Given the description of an element on the screen output the (x, y) to click on. 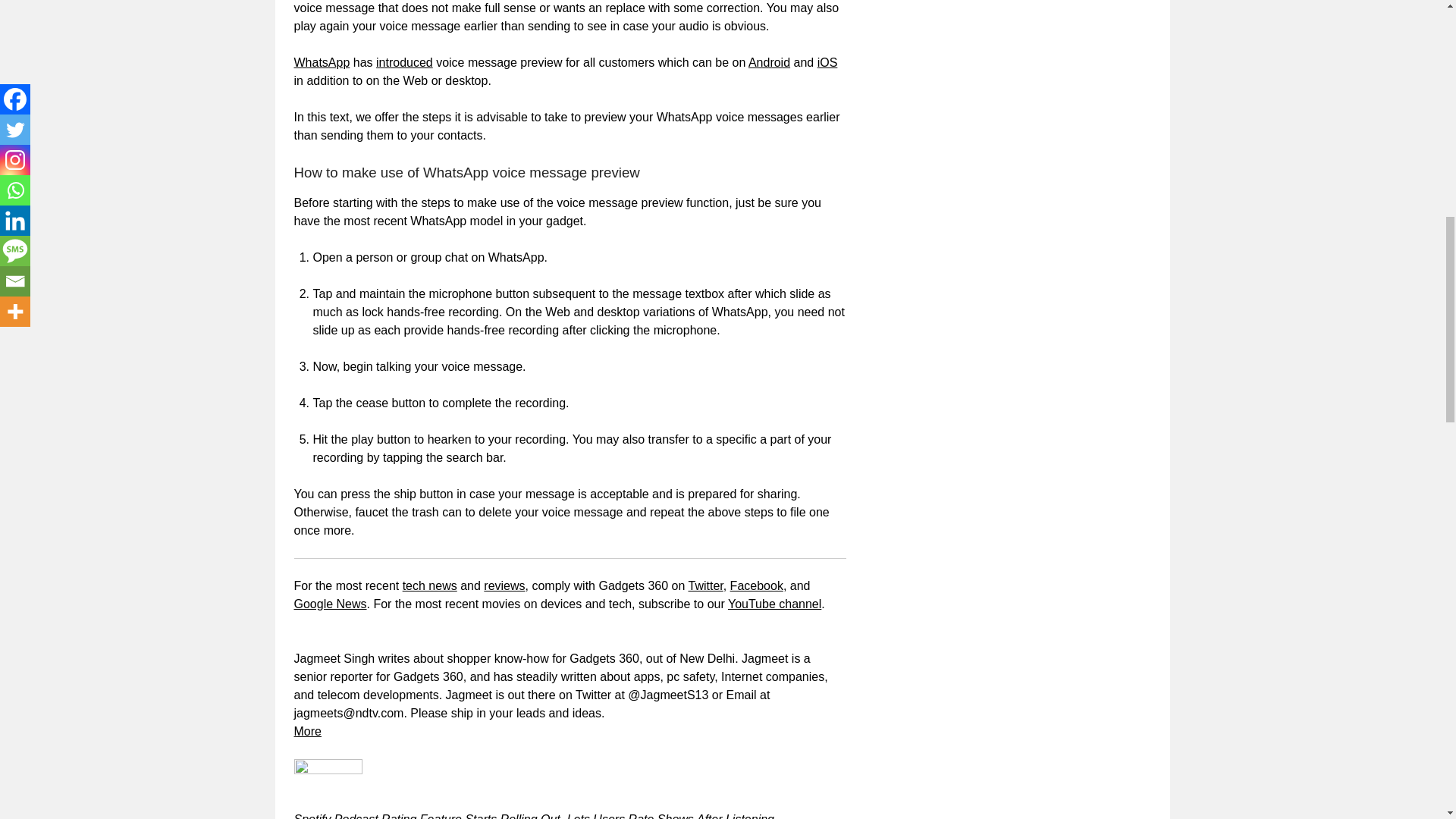
WhatsApp (322, 62)
introduced (403, 62)
Android (769, 62)
Google News (330, 603)
Facebook (756, 585)
reviews (503, 585)
More (307, 730)
YouTube channel (774, 603)
Twitter (704, 585)
iOS (827, 62)
